Given the description of an element on the screen output the (x, y) to click on. 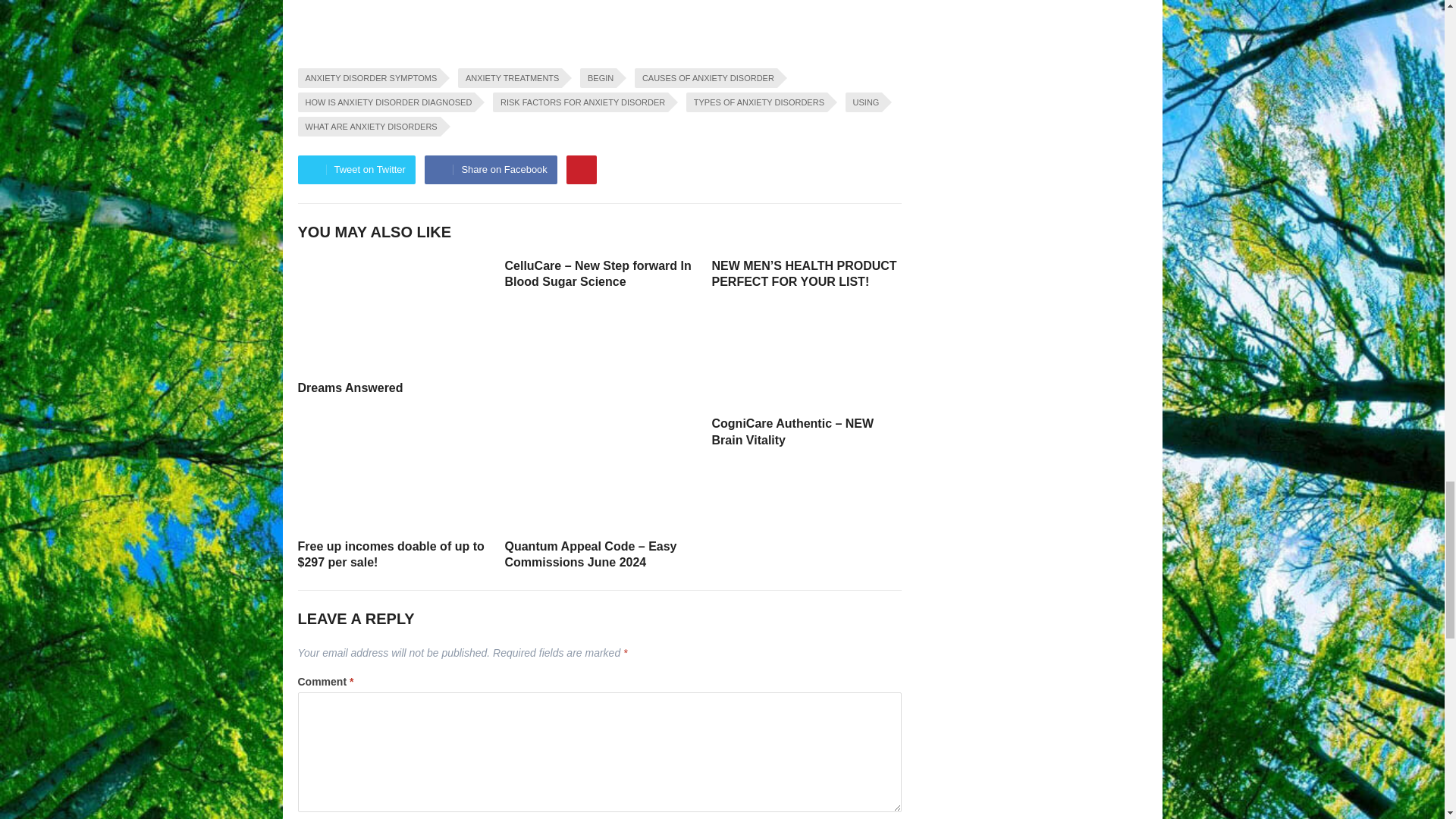
HOW IS ANXIETY DISORDER DIAGNOSED (385, 102)
USING (863, 102)
ANXIETY DISORDER SYMPTOMS (368, 77)
ANXIETY TREATMENTS (510, 77)
BEGIN (597, 77)
CAUSES OF ANXIETY DISORDER (705, 77)
RISK FACTORS FOR ANXIETY DISORDER (580, 102)
TYPES OF ANXIETY DISORDERS (756, 102)
Tweet on Twitter (355, 169)
WHAT ARE ANXIETY DISORDERS (368, 126)
